Given the description of an element on the screen output the (x, y) to click on. 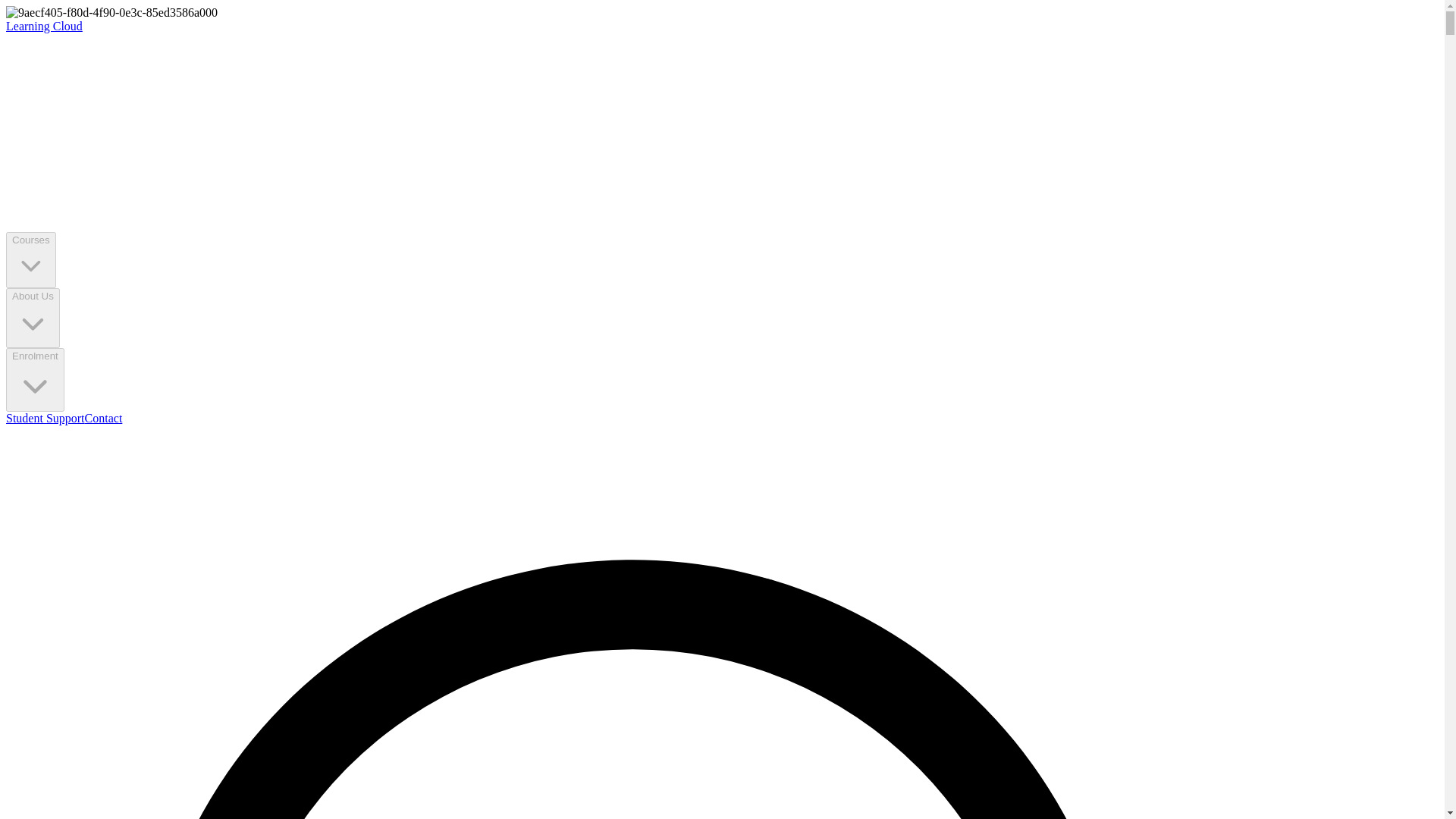
Contact (103, 418)
Enrolment (34, 380)
Student Support (44, 418)
Courses (30, 259)
About Us (32, 318)
